Given the description of an element on the screen output the (x, y) to click on. 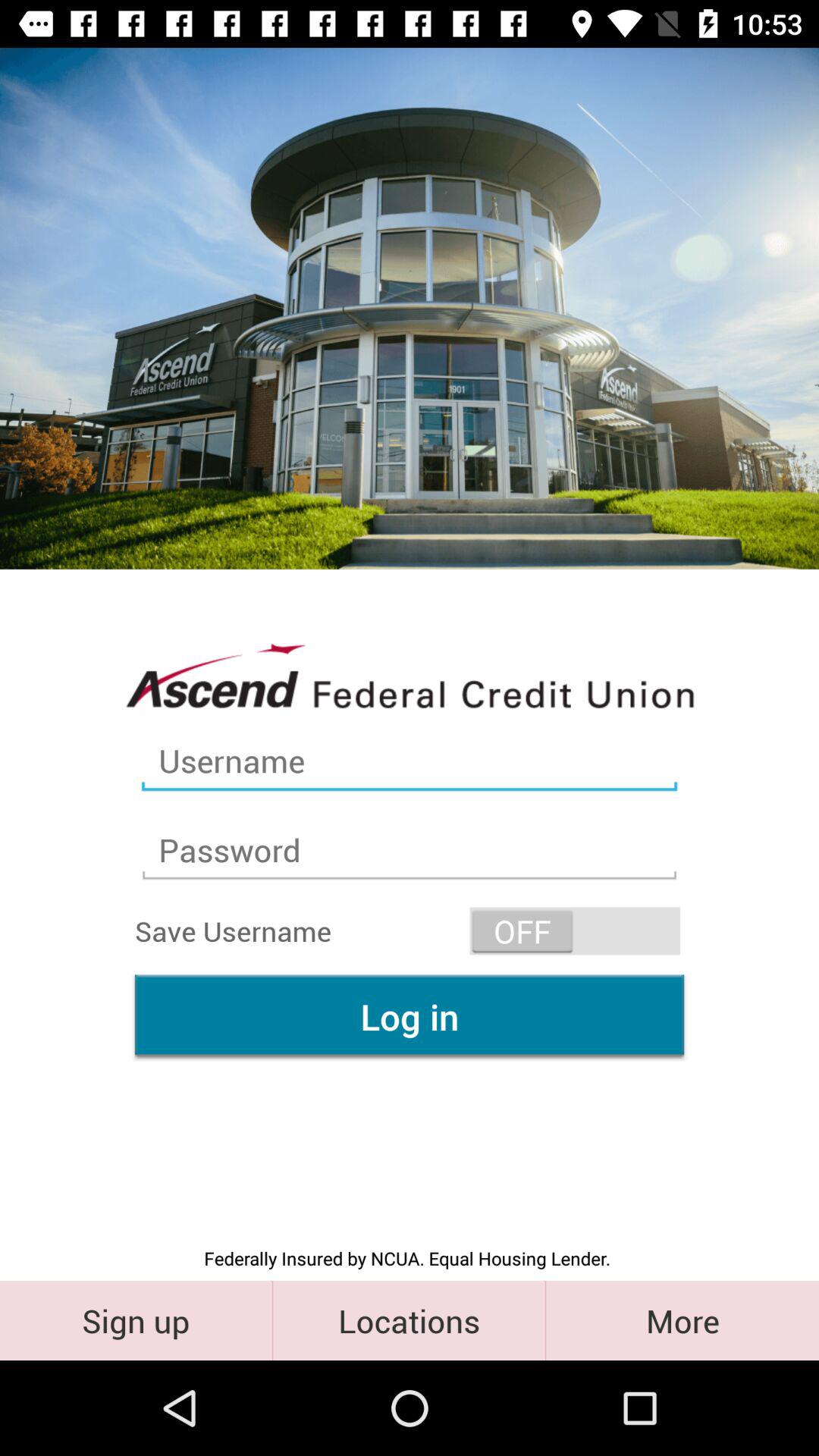
launch item below federally insured by (409, 1320)
